Given the description of an element on the screen output the (x, y) to click on. 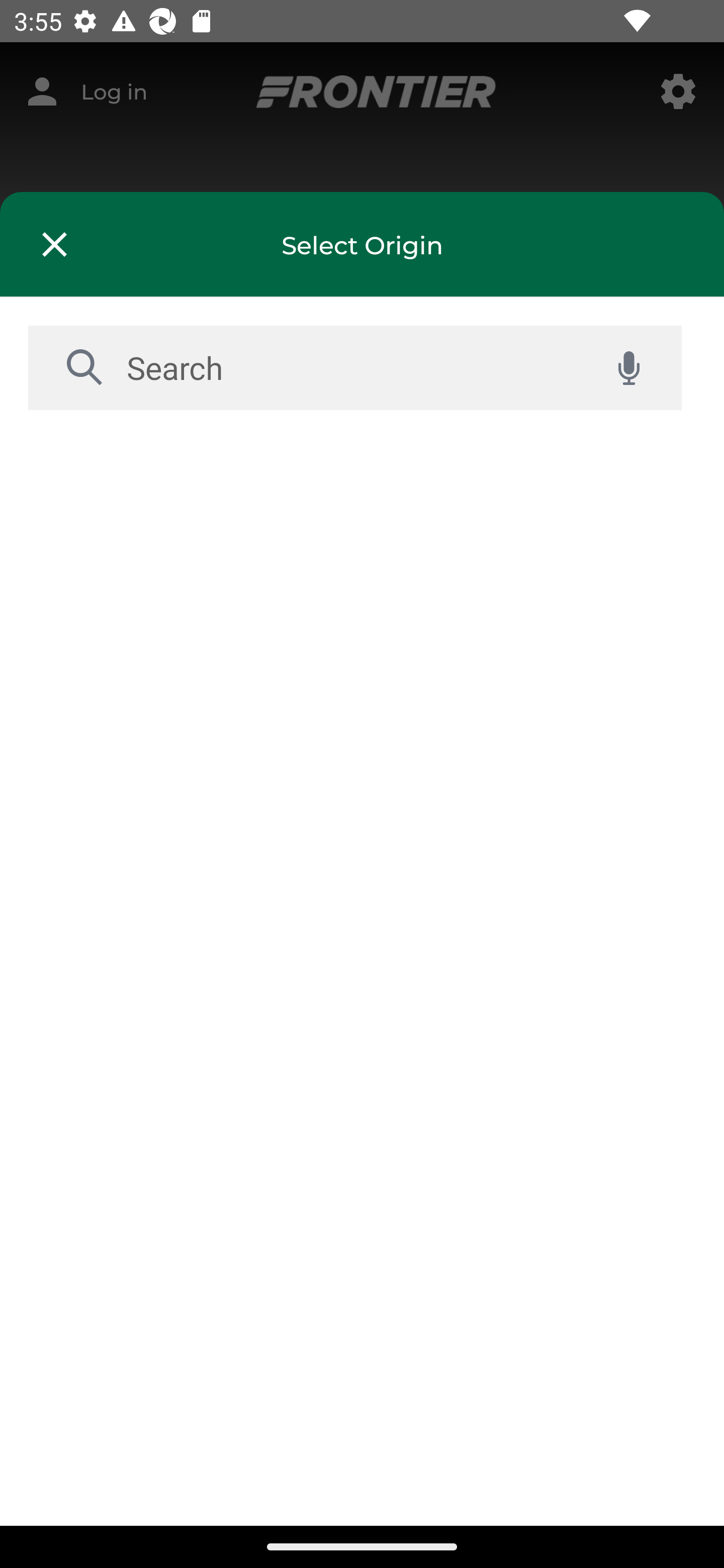
Voice search (628, 368)
Search (351, 367)
